Given the description of an element on the screen output the (x, y) to click on. 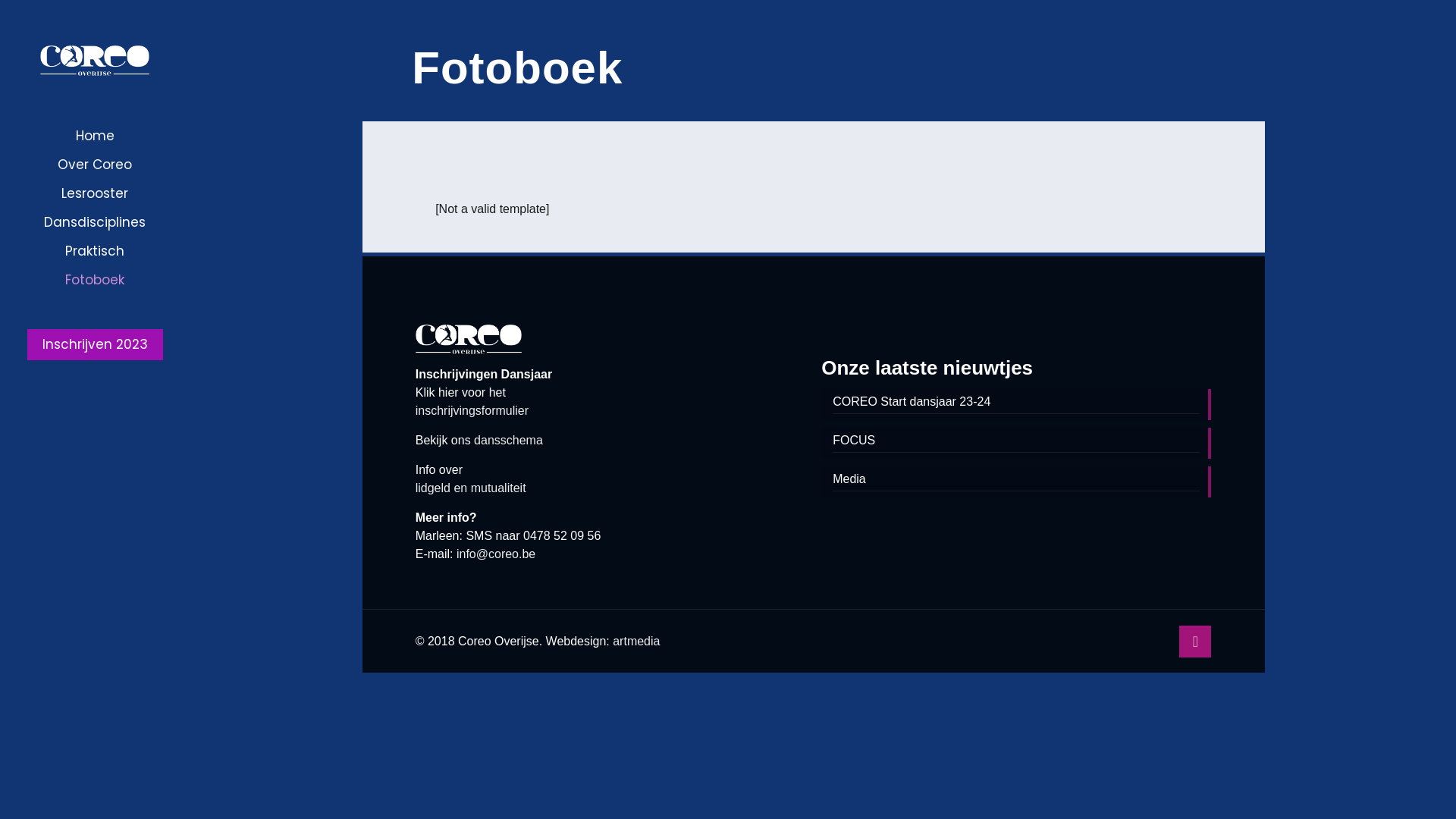
info@coreo.be Element type: text (495, 553)
lidgeld en mutualiteit Element type: text (470, 487)
dansschema Element type: text (507, 439)
inschrijvingsformulier Element type: text (471, 410)
Inschrijven 2023 Element type: text (95, 344)
Coreo Overijse Element type: hover (94, 60)
Home Element type: text (94, 135)
Over Coreo Element type: text (94, 164)
artmedia Element type: text (635, 640)
Media Element type: text (1015, 480)
COREO Start dansjaar 23-24 Element type: text (1015, 403)
Lesrooster Element type: text (94, 192)
Praktisch Element type: text (94, 250)
Fotoboek Element type: text (94, 279)
Dansdisciplines Element type: text (94, 221)
FOCUS Element type: text (1015, 441)
